Given the description of an element on the screen output the (x, y) to click on. 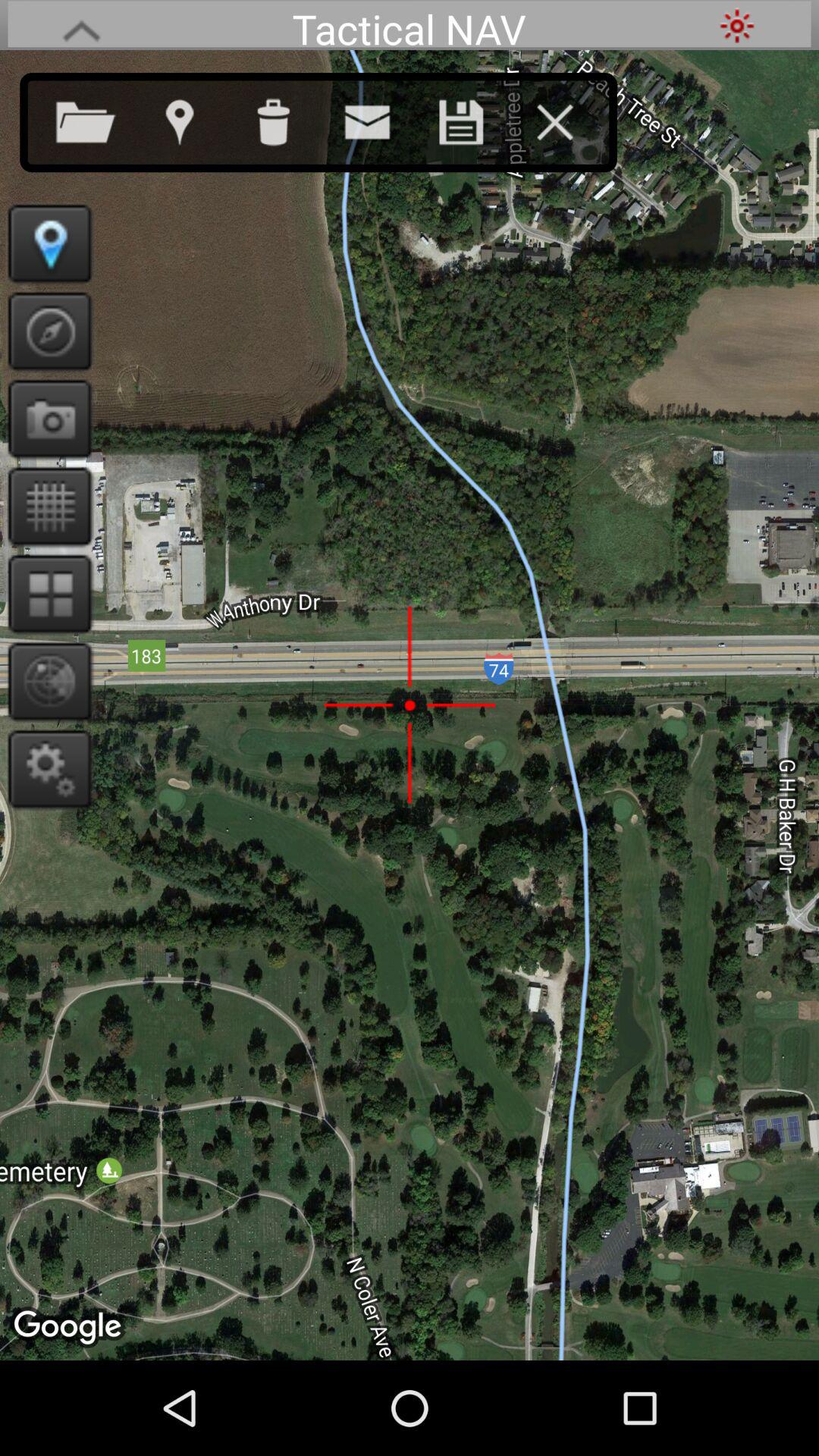
closes the menu banner (570, 119)
